Given the description of an element on the screen output the (x, y) to click on. 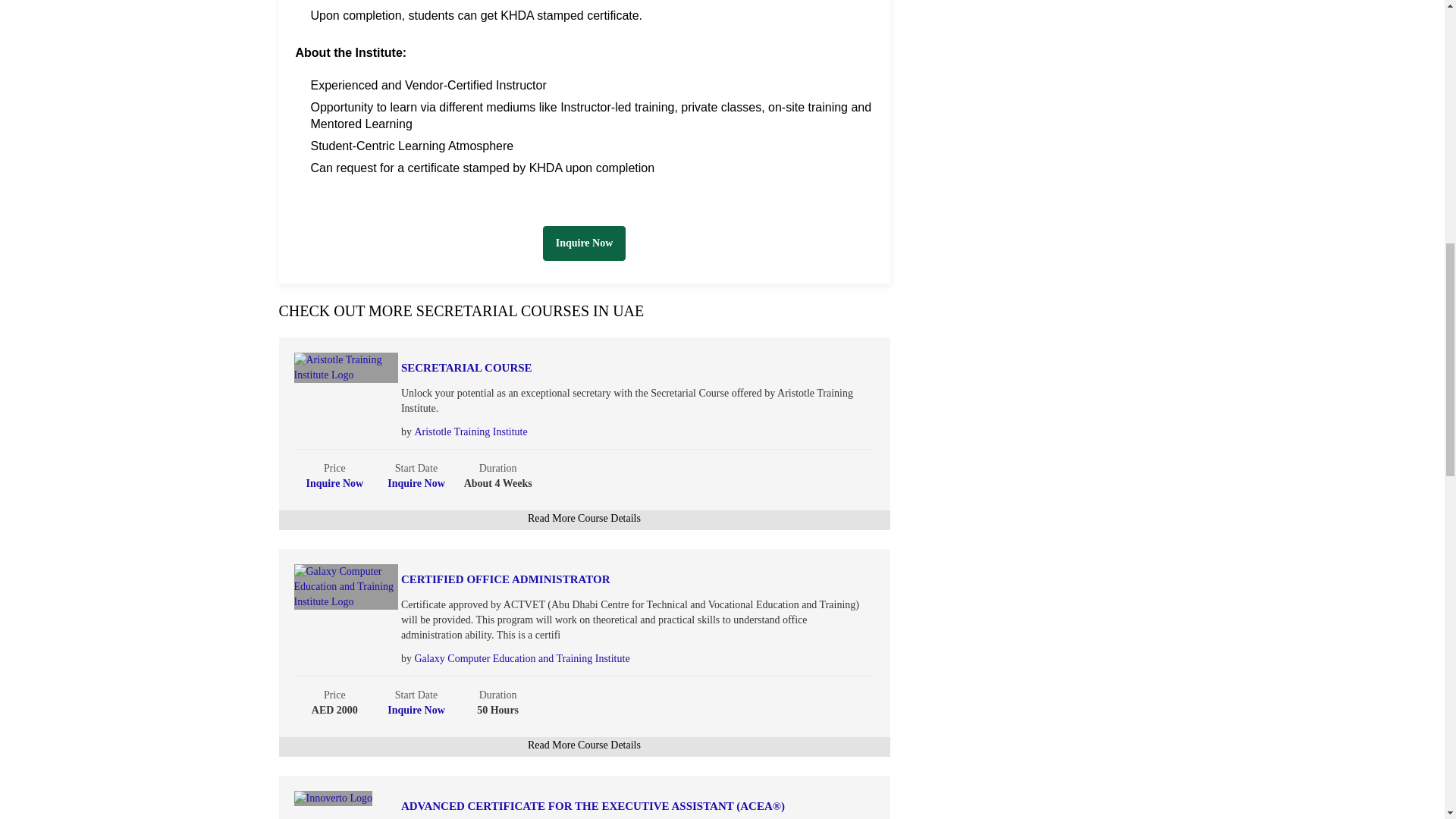
CERTIFIED OFFICE ADMINISTRATOR (602, 579)
Read More Course Details (583, 745)
Galaxy Computer Education and Training Institute (520, 658)
Read More Course Details (583, 518)
Certified Office Administrator (602, 579)
Inquire Now (584, 243)
SECRETARIAL COURSE (602, 367)
Inquire Now (416, 482)
Inquire Now (334, 482)
Secretarial Course (602, 367)
Aristotle Training Institute (470, 431)
Inquire Now (416, 709)
Inquire Now (584, 243)
